Given the description of an element on the screen output the (x, y) to click on. 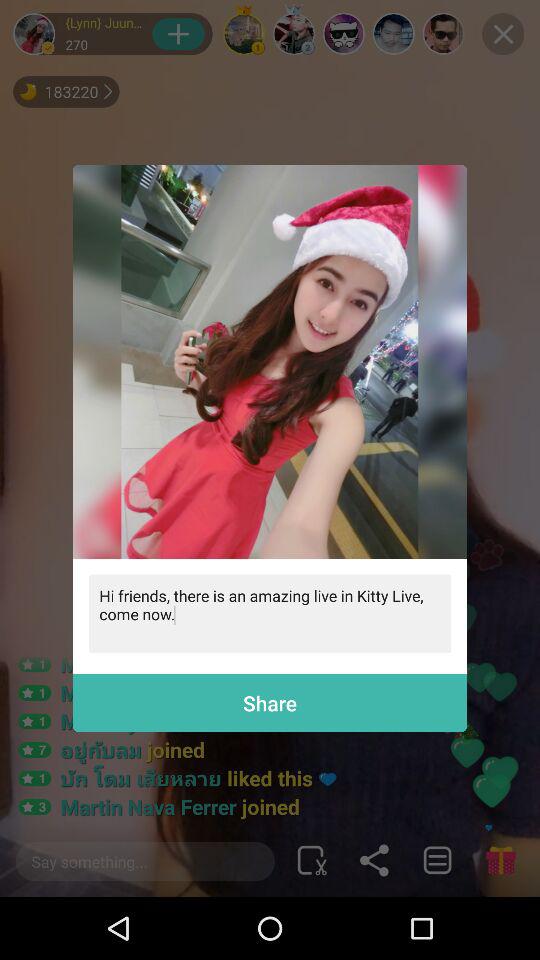
flip until the hi friends there icon (269, 613)
